Given the description of an element on the screen output the (x, y) to click on. 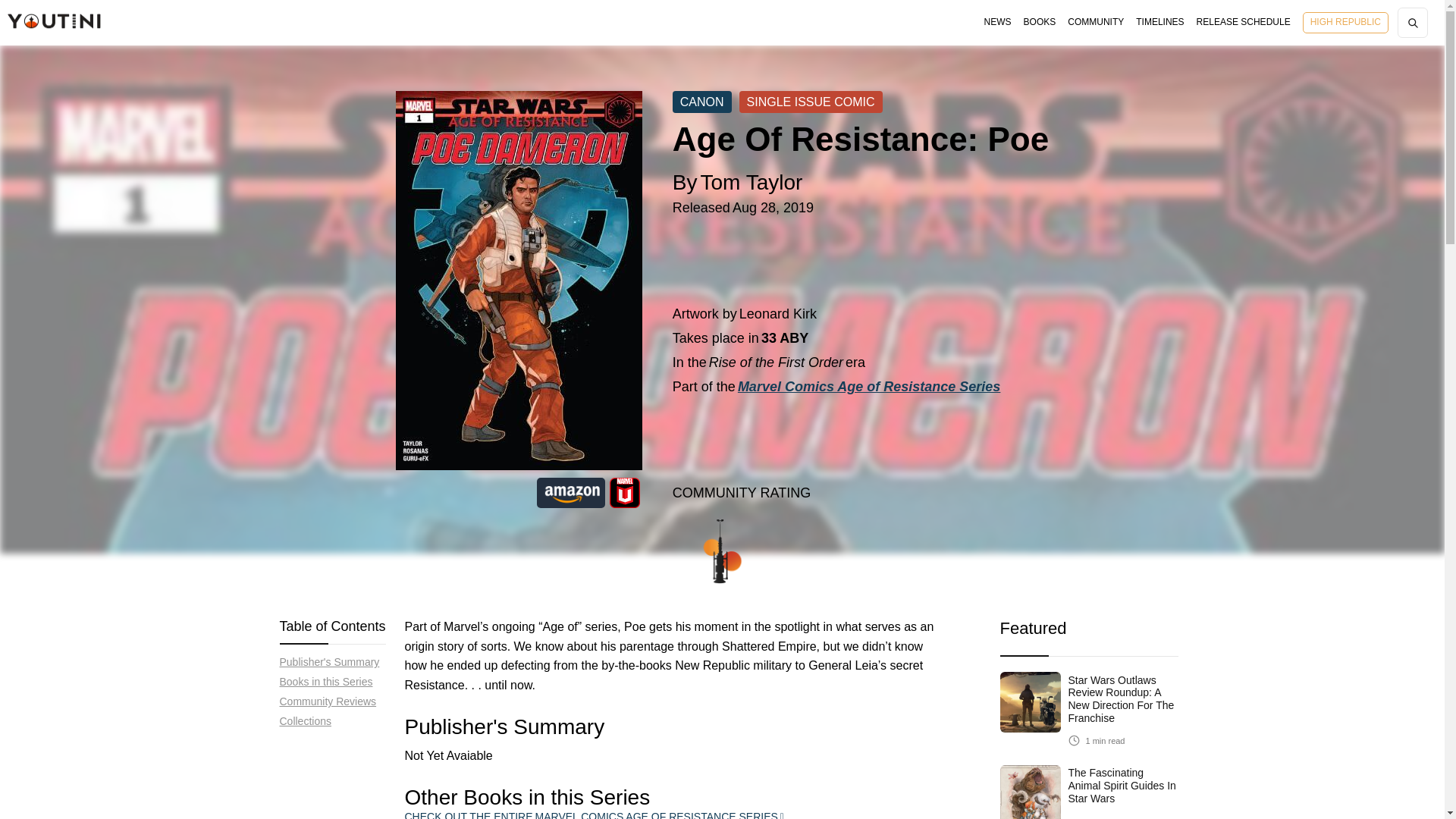
HIGH REPUBLIC (1346, 22)
BOOKS (1039, 22)
RELEASE SCHEDULE (1244, 22)
